Given the description of an element on the screen output the (x, y) to click on. 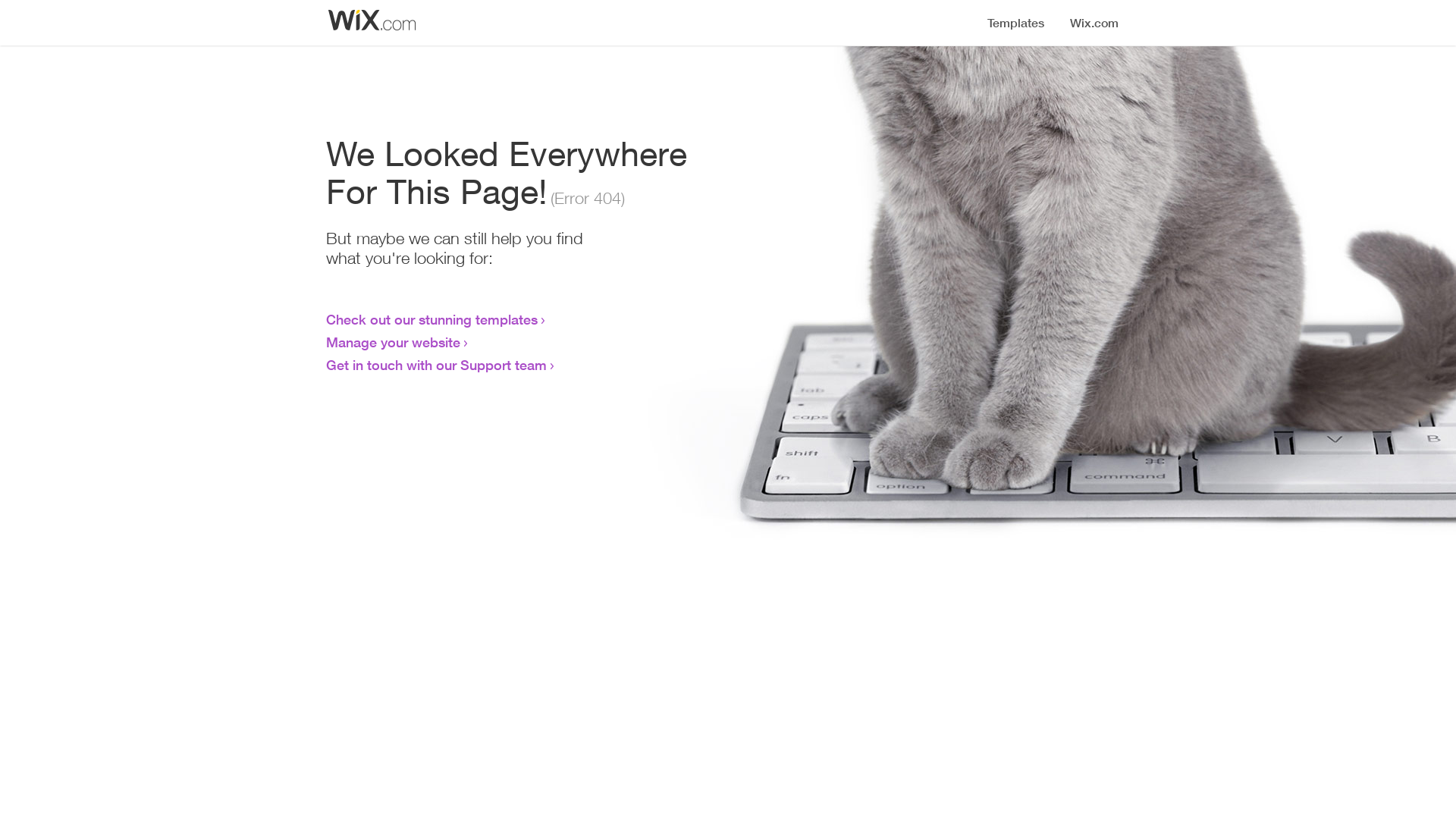
Check out our stunning templates Element type: text (431, 318)
Get in touch with our Support team Element type: text (436, 364)
Manage your website Element type: text (393, 341)
